Given the description of an element on the screen output the (x, y) to click on. 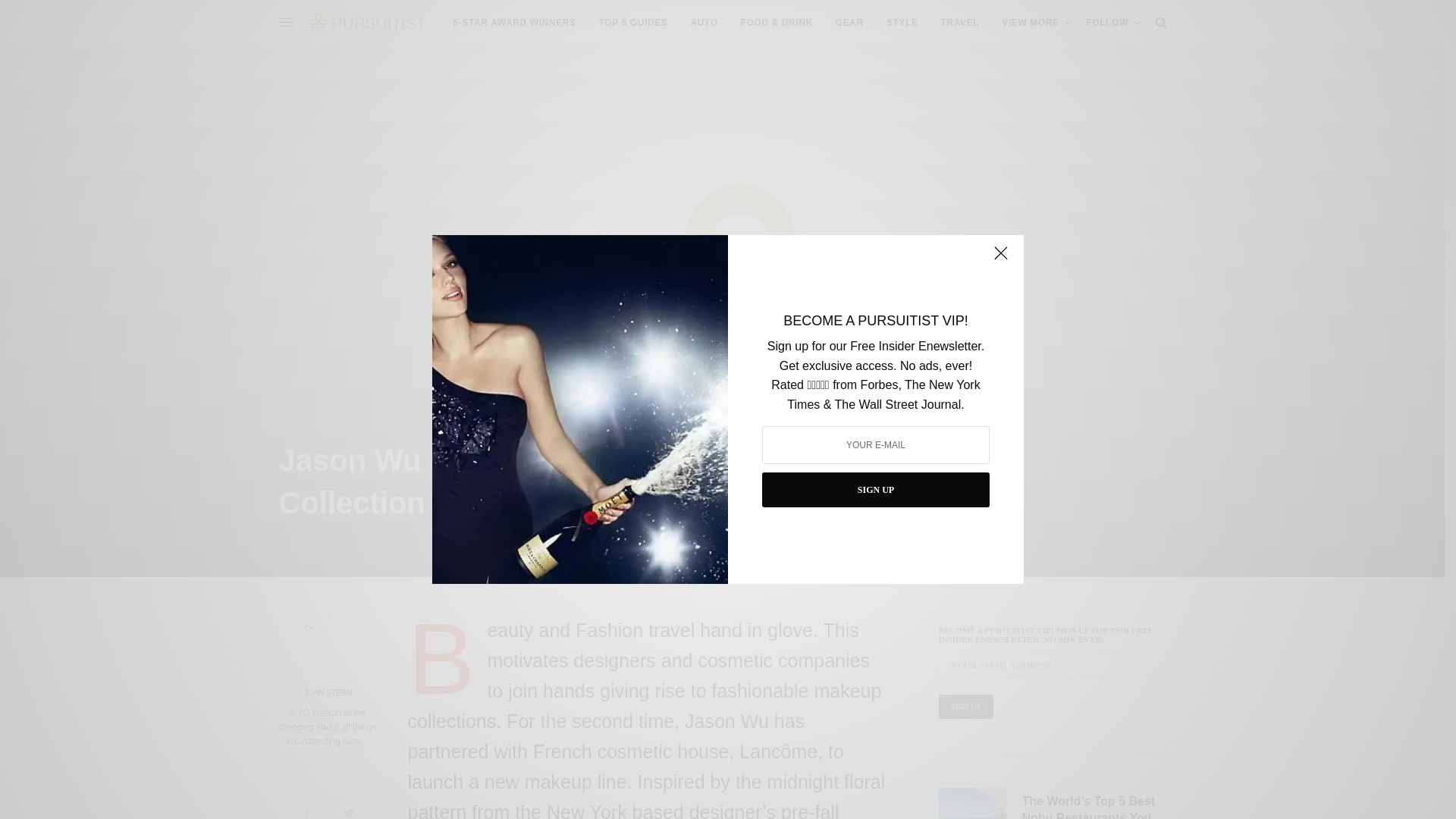
TOP 5 GUIDES (633, 22)
Sign up (966, 706)
JOAN STERN (328, 692)
5-Star Pursuits (514, 22)
Pursuitist (366, 22)
SIGN UP (875, 489)
FOLLOW (1113, 22)
VIEW MORE (1035, 22)
5-STAR AWARD WINNERS (514, 22)
